Given the description of an element on the screen output the (x, y) to click on. 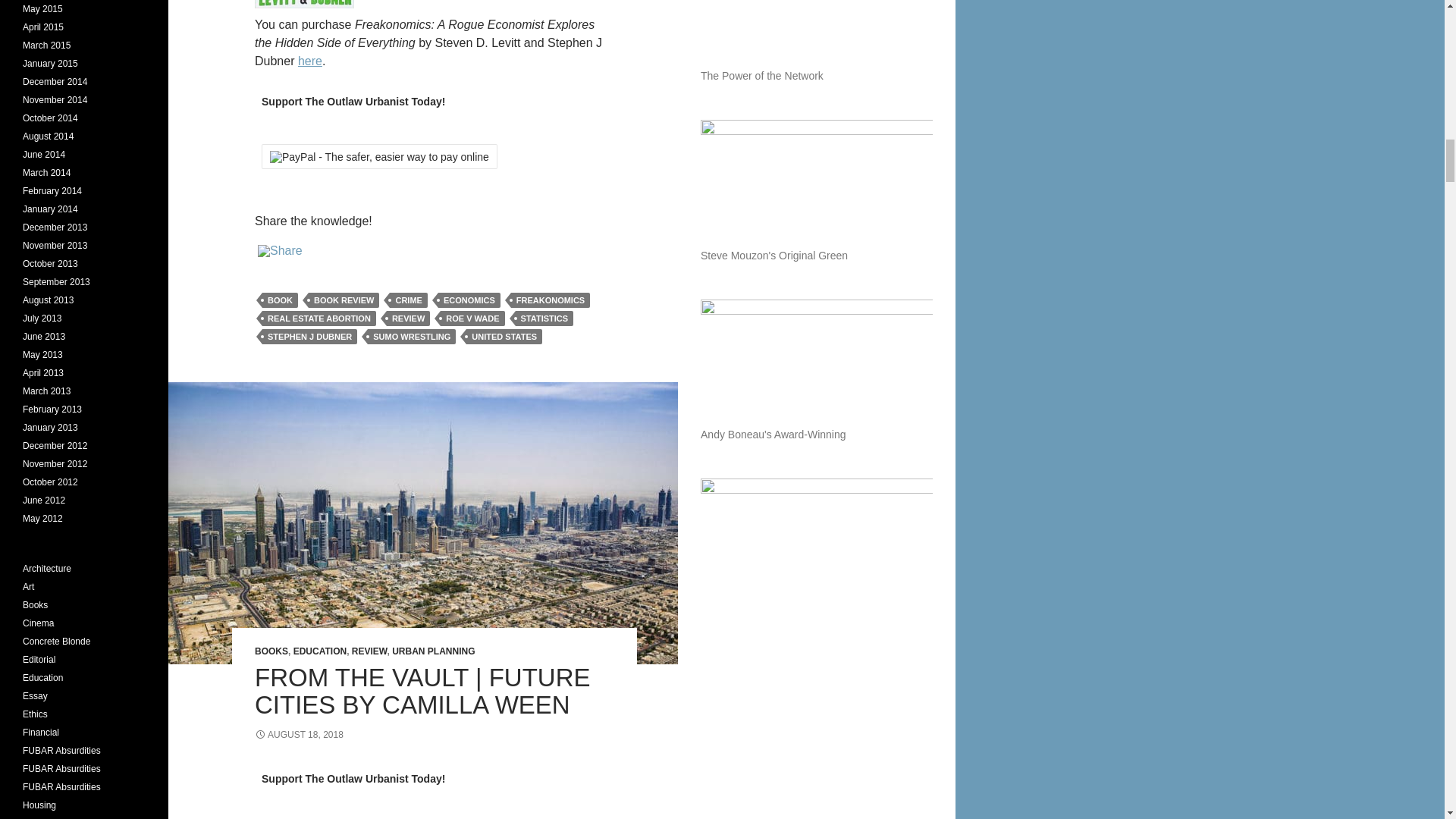
BOOK (280, 299)
here (309, 60)
BOOK REVIEW (343, 299)
FREAKONOMICS (550, 299)
ECONOMICS (469, 299)
CRIME (408, 299)
